Given the description of an element on the screen output the (x, y) to click on. 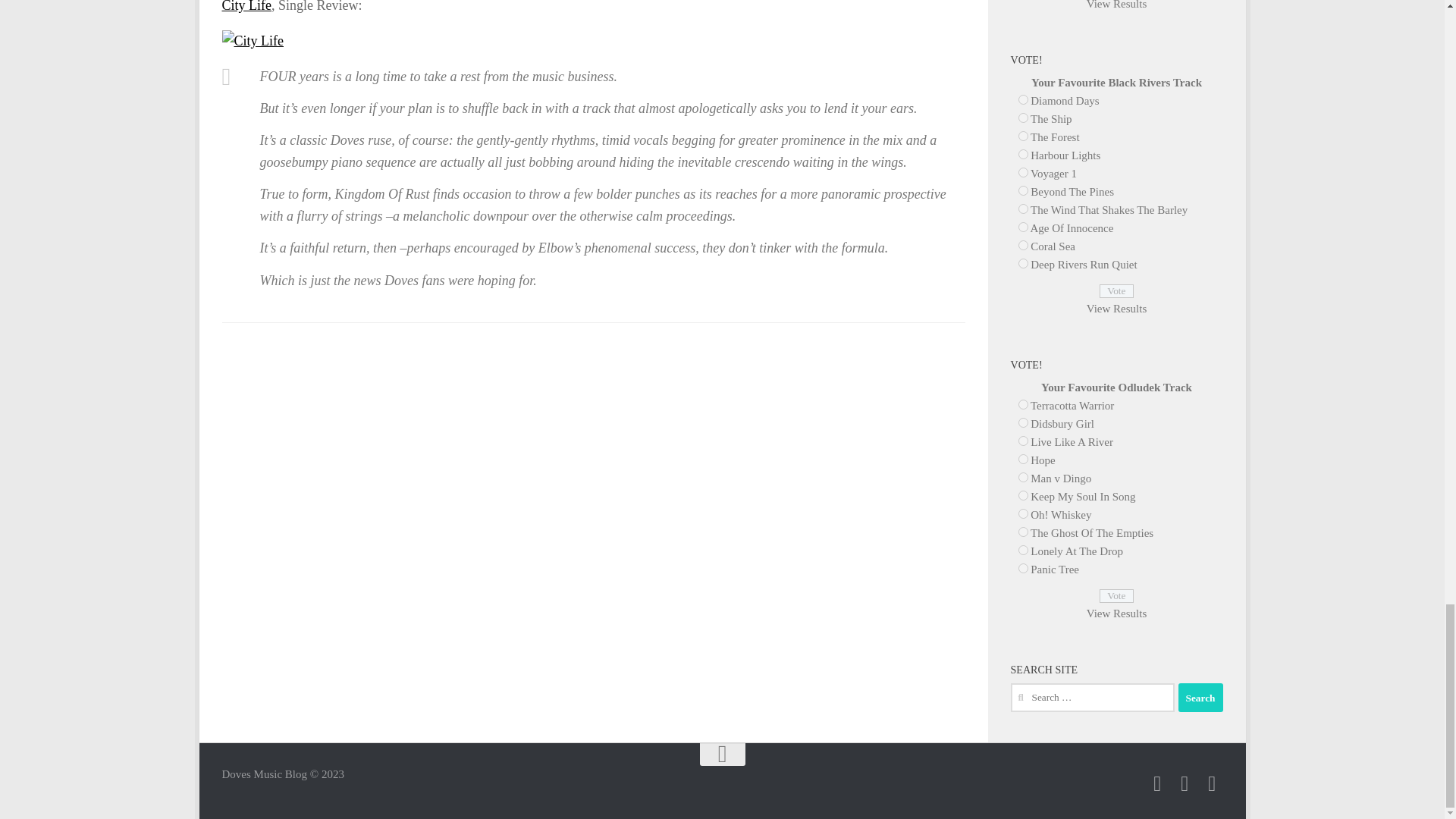
Search (1200, 697)
34 (1022, 99)
View Results Of This Poll (1116, 308)
View Results Of This Poll (1116, 613)
View Results Of This Poll (1116, 4)
